Given the description of an element on the screen output the (x, y) to click on. 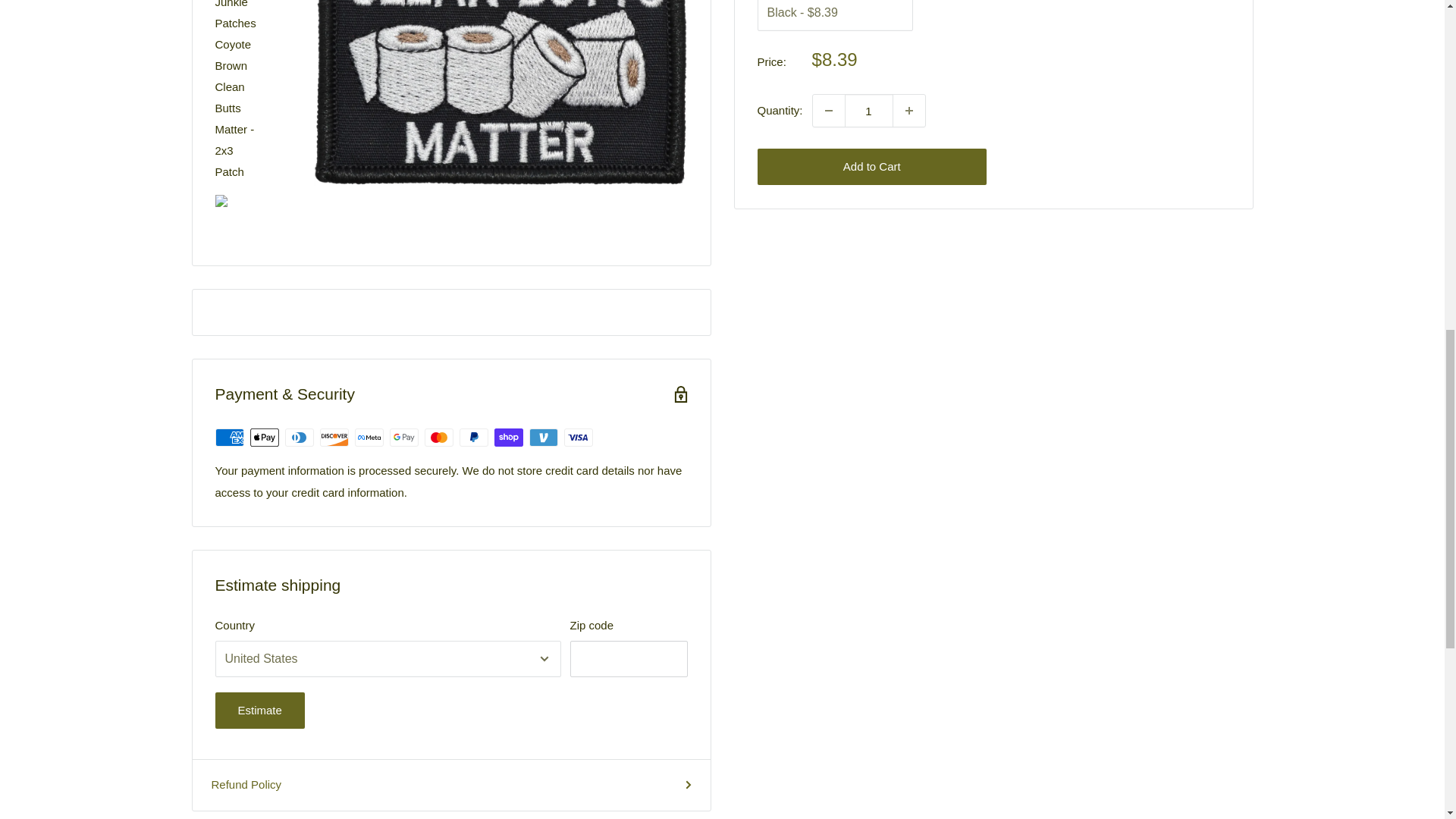
1 (868, 110)
Increase quantity by 1 (908, 110)
Decrease quantity by 1 (828, 110)
